Given the description of an element on the screen output the (x, y) to click on. 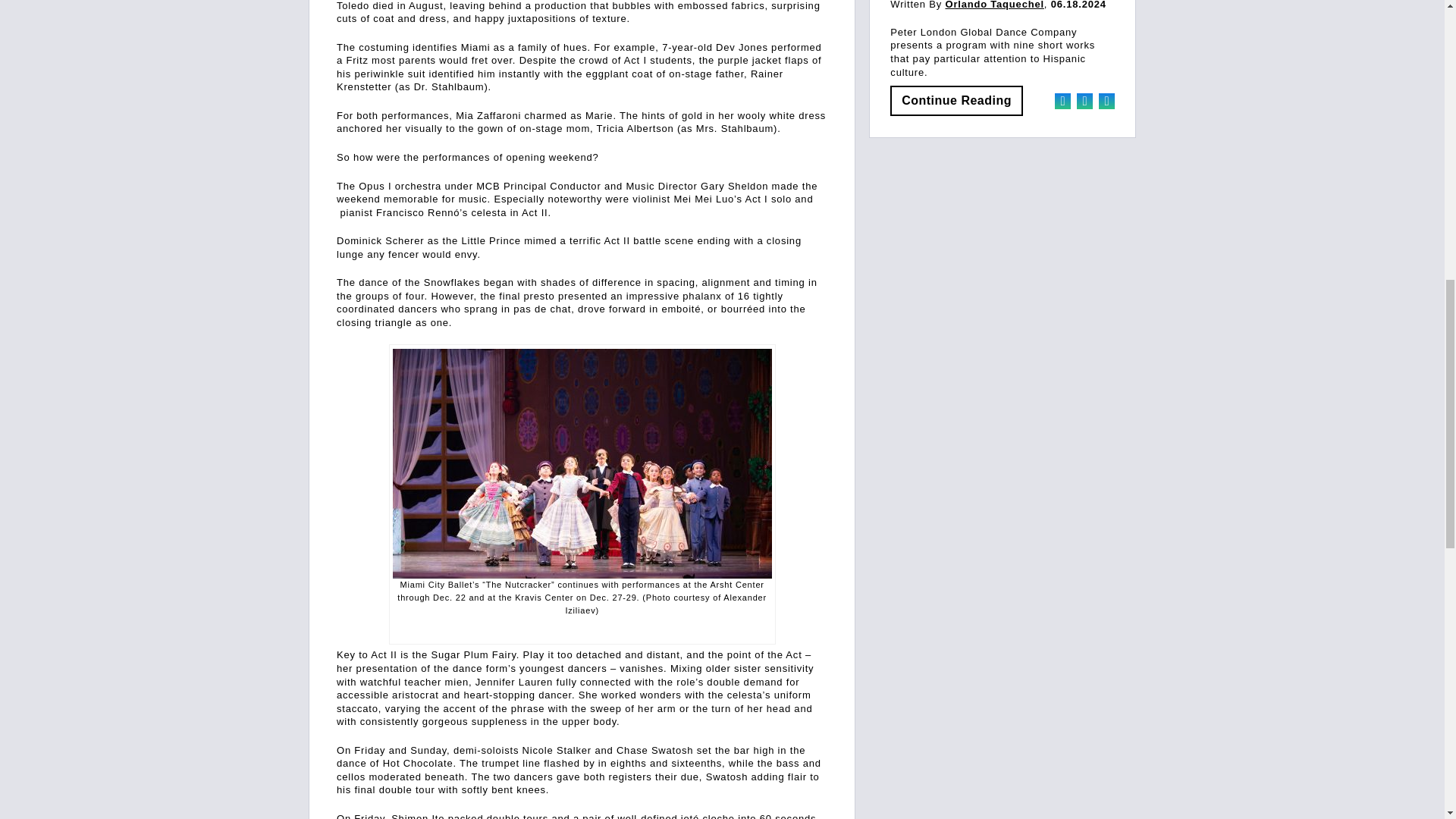
Continue Reading (955, 100)
Orlando Taquechel (993, 4)
